Given the description of an element on the screen output the (x, y) to click on. 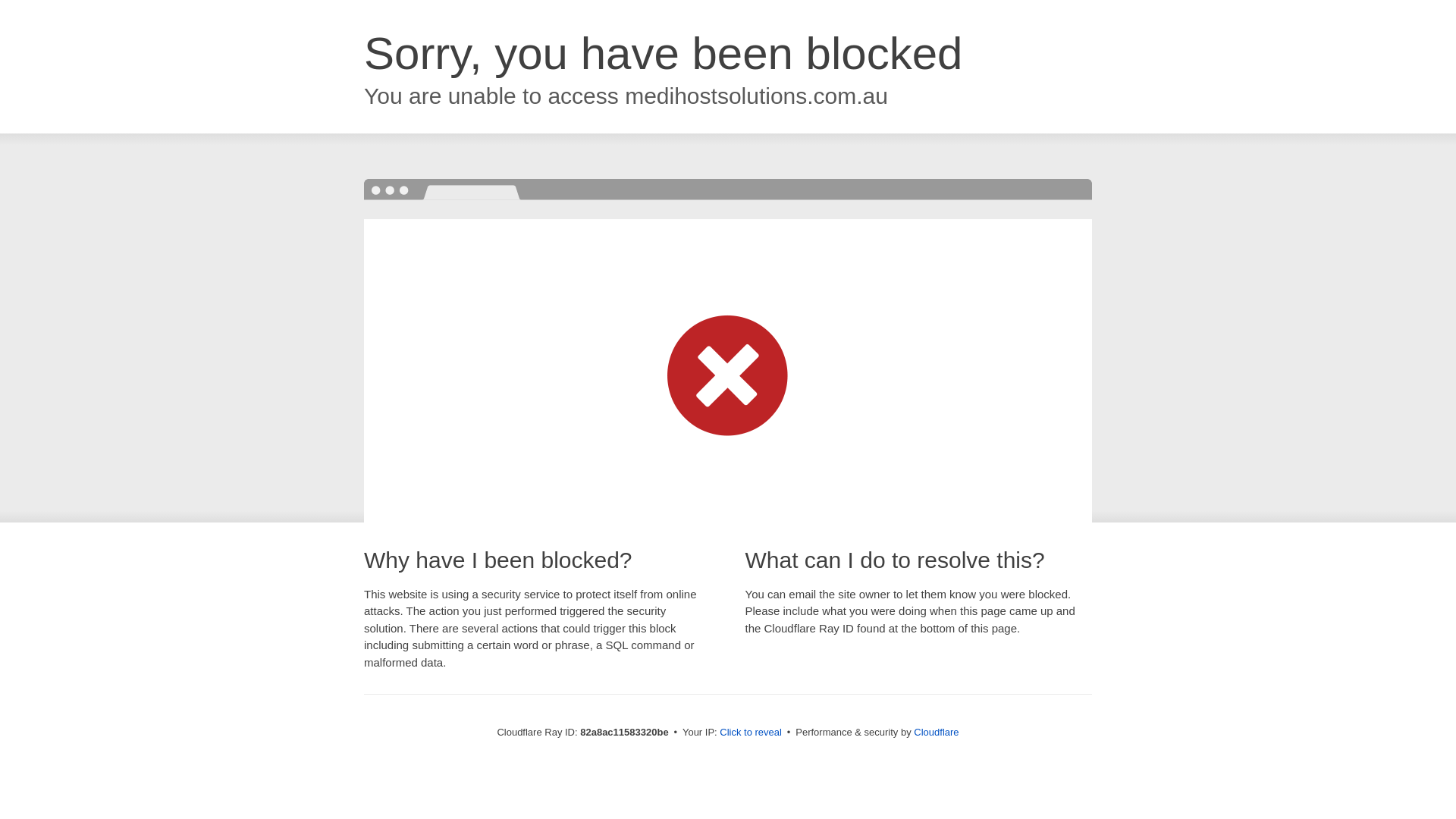
Cloudflare Element type: text (935, 731)
Click to reveal Element type: text (750, 732)
